Given the description of an element on the screen output the (x, y) to click on. 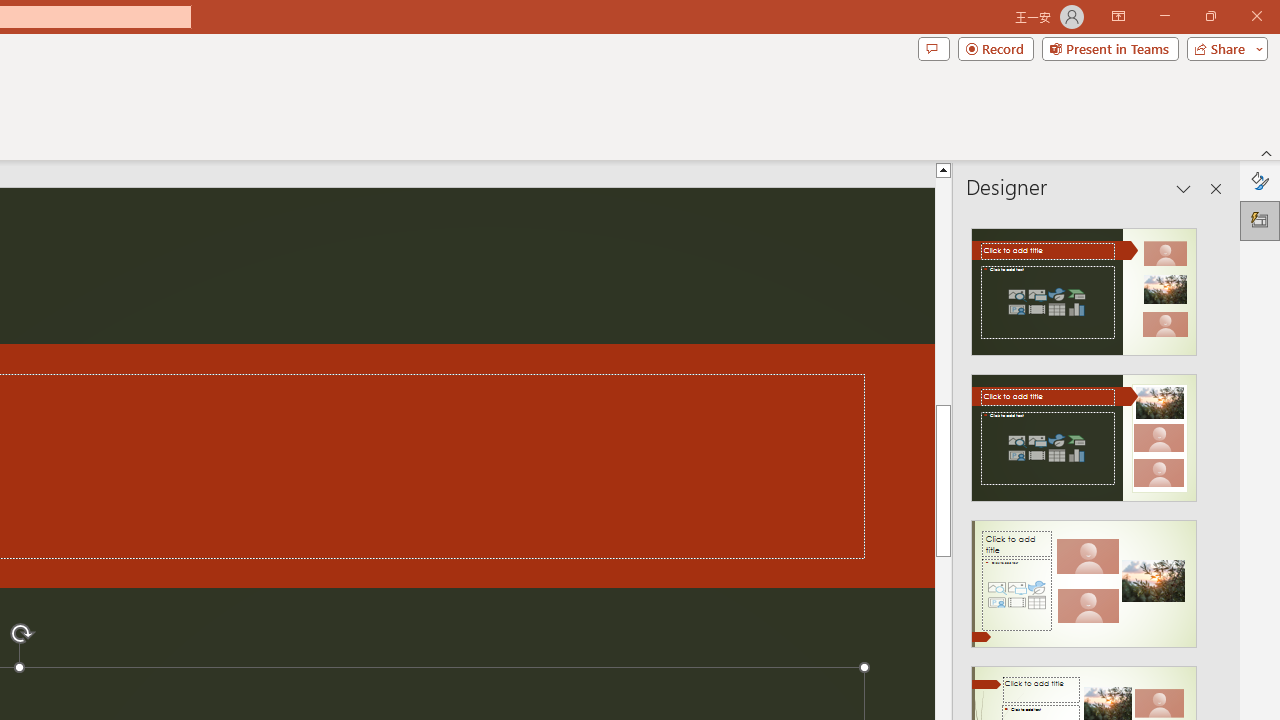
Design Idea (1083, 577)
